Given the description of an element on the screen output the (x, y) to click on. 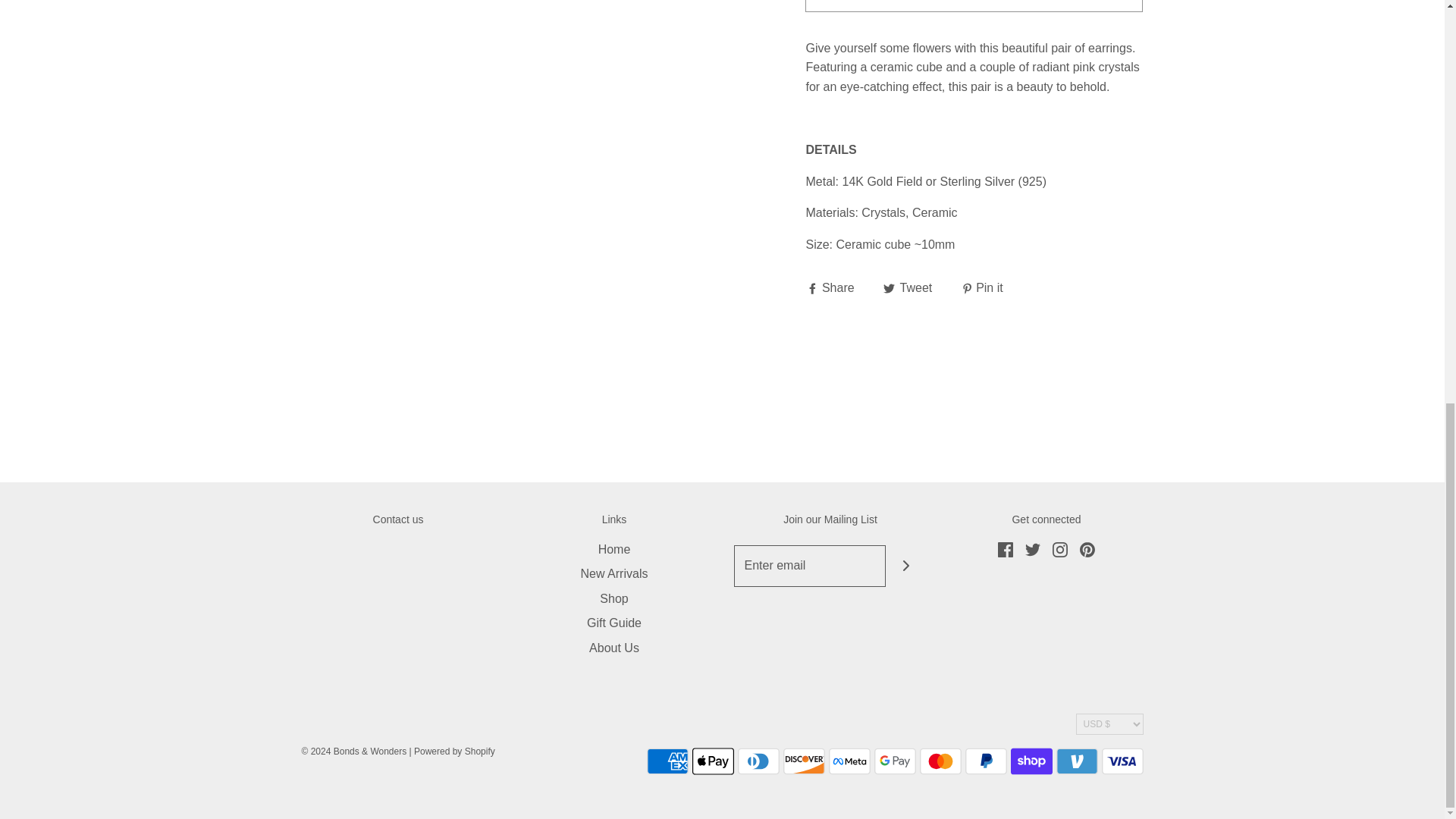
PayPal (984, 761)
Pinterest icon (1087, 549)
Apple Pay (712, 761)
Instagram icon (1059, 549)
Meta Pay (848, 761)
Twitter icon (1033, 549)
Mastercard (939, 761)
Facebook icon (1005, 549)
Google Pay (894, 761)
Discover (803, 761)
American Express (666, 761)
Diners Club (757, 761)
